Given the description of an element on the screen output the (x, y) to click on. 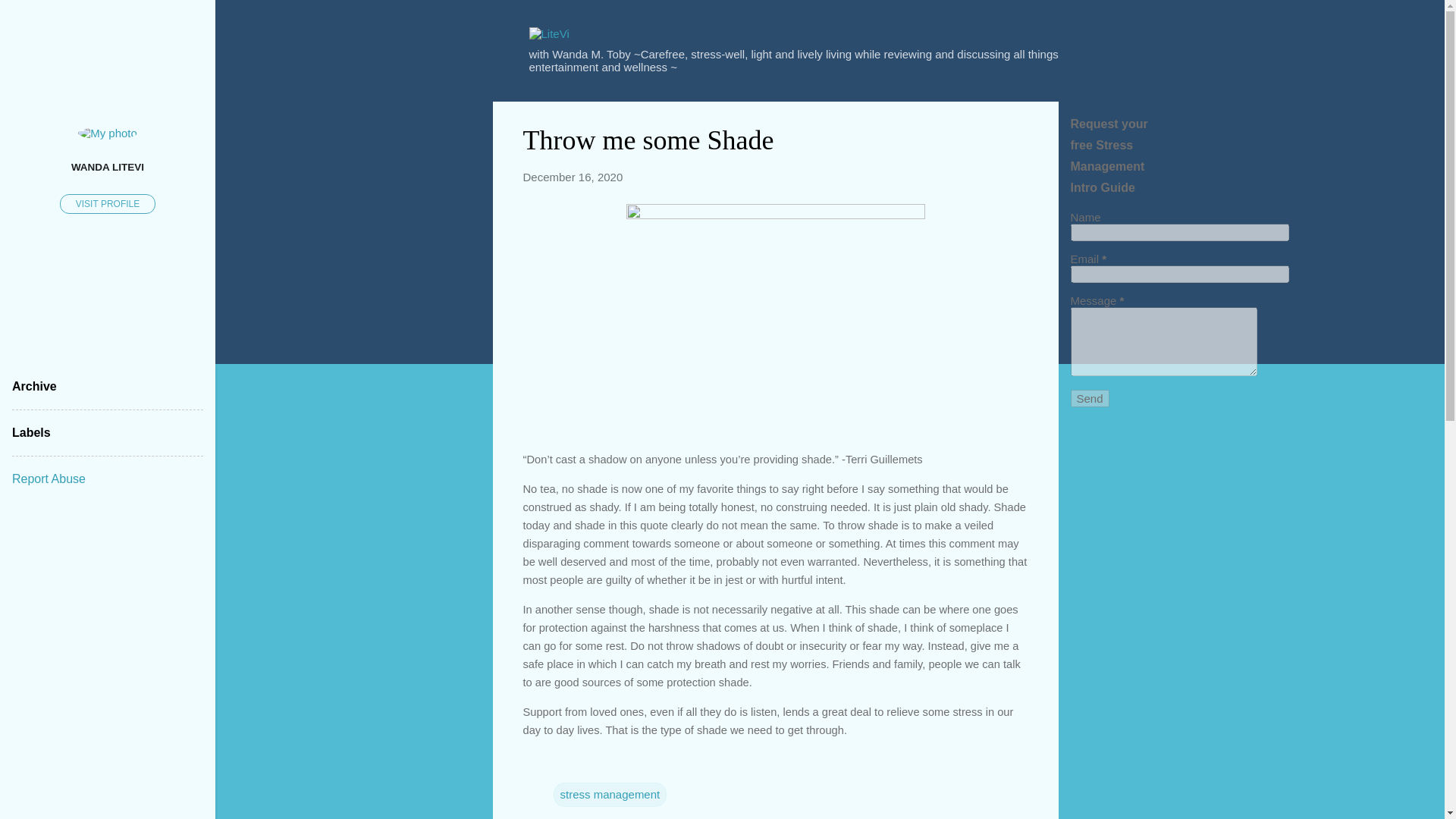
WANDA LITEVI (107, 166)
VISIT PROFILE (107, 203)
Send (1089, 398)
permanent link (572, 176)
December 16, 2020 (572, 176)
Search (29, 18)
stress management (609, 794)
